Given the description of an element on the screen output the (x, y) to click on. 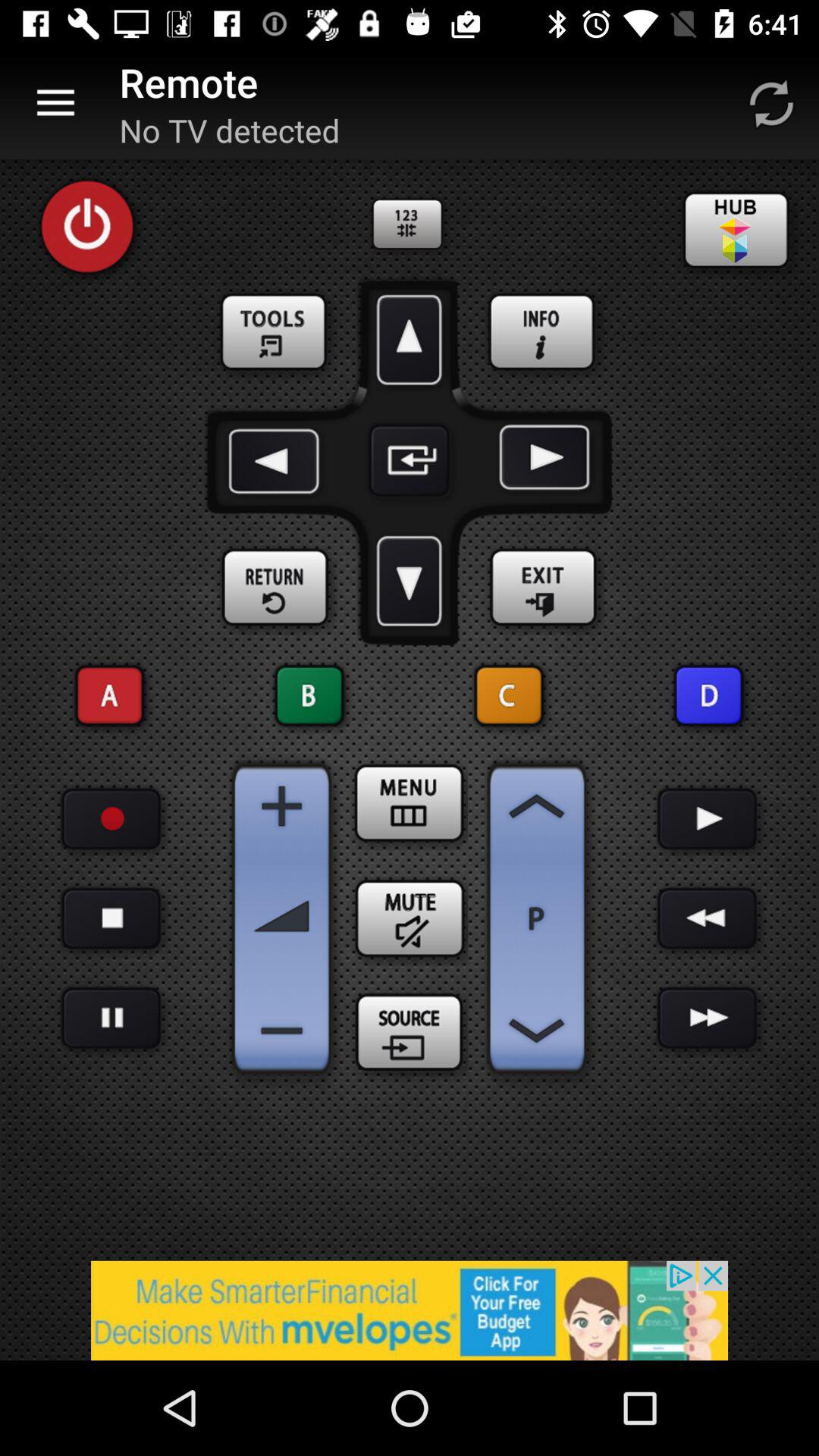
options (275, 332)
